Given the description of an element on the screen output the (x, y) to click on. 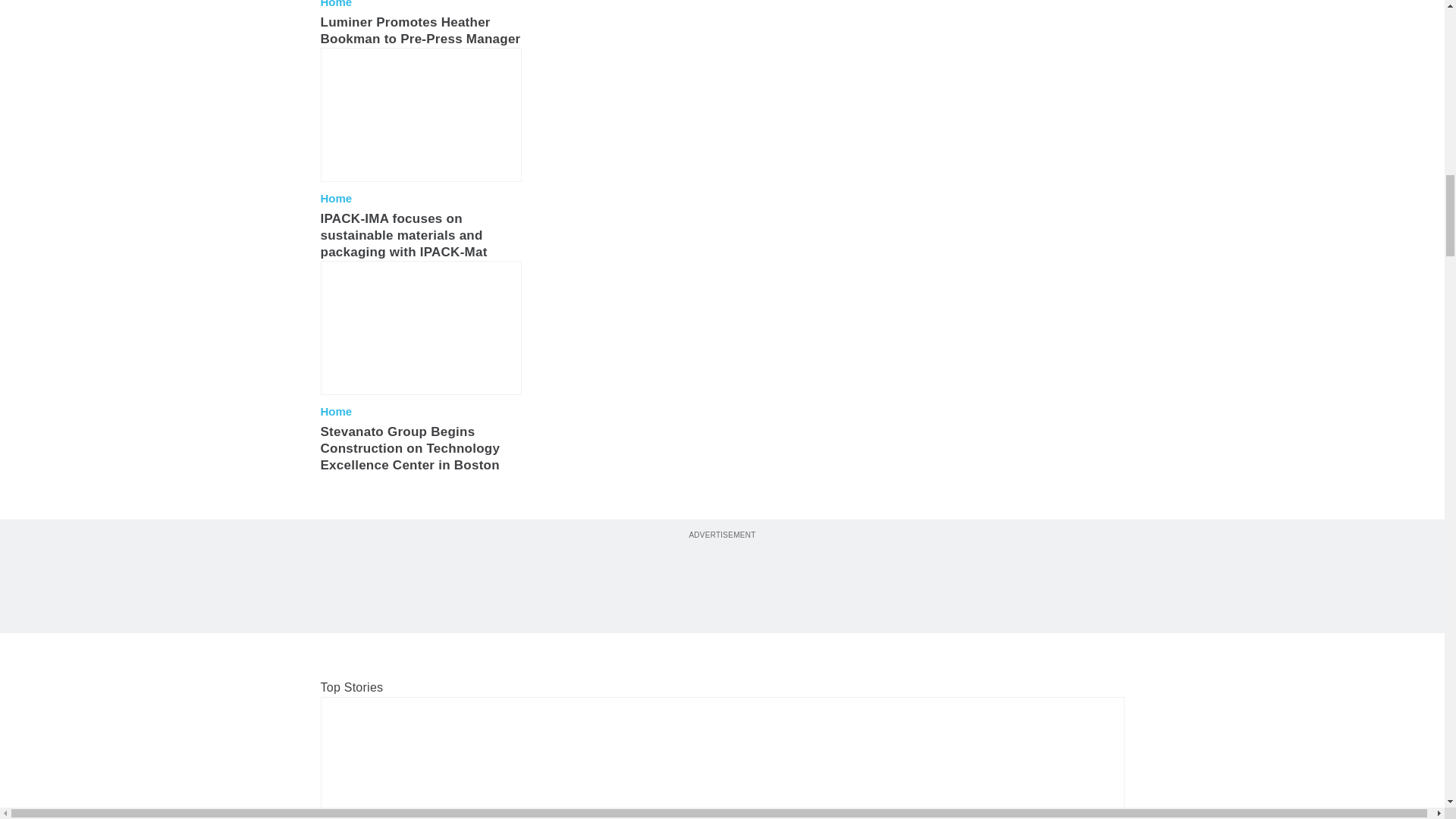
Home (336, 411)
Home (336, 4)
Home (336, 198)
